Given the description of an element on the screen output the (x, y) to click on. 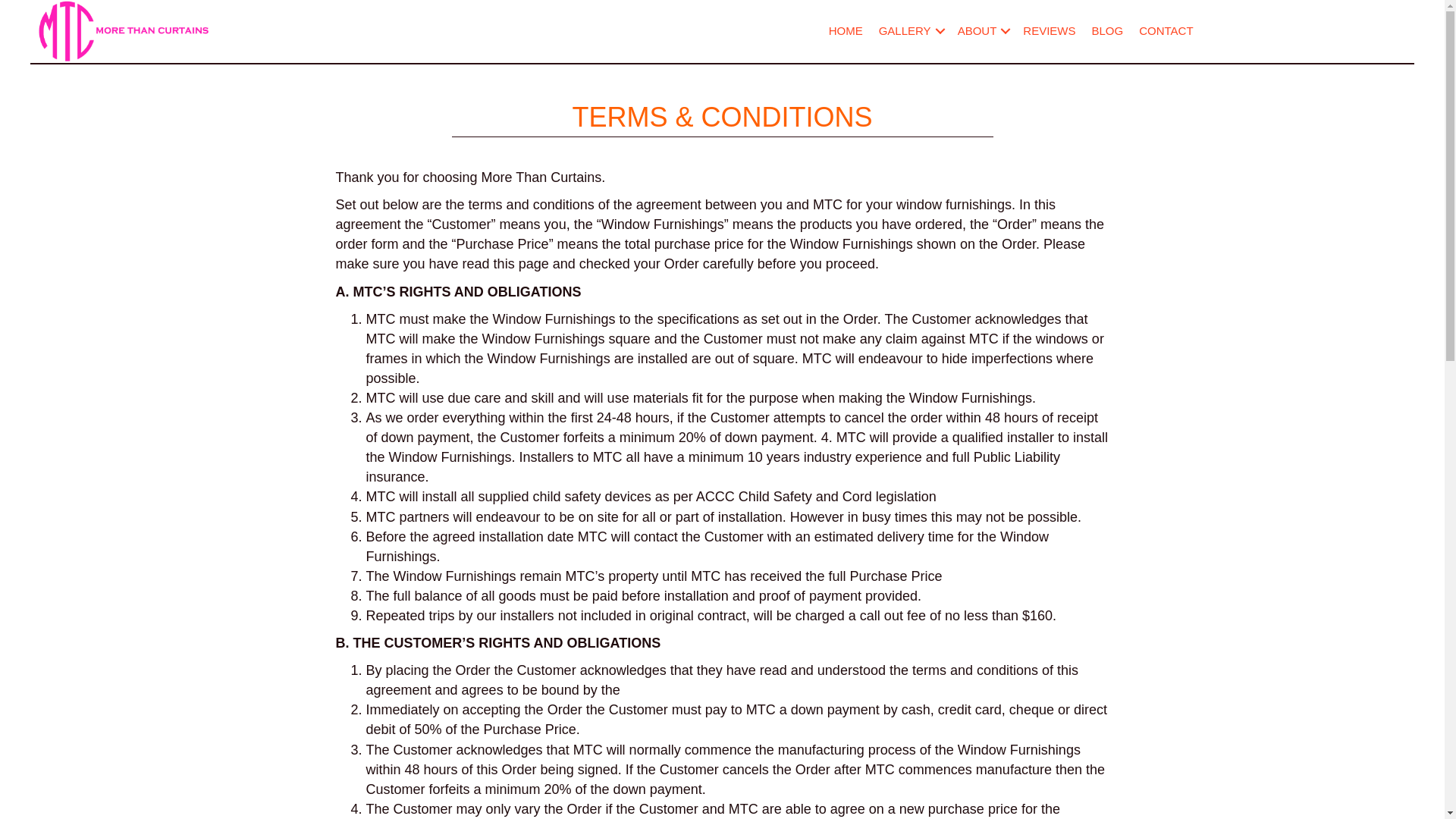
BLOG Element type: text (1107, 30)
More Than Curtains Watermark pink Element type: hover (124, 31)
HOME Element type: text (845, 30)
CONTACT Element type: text (1165, 30)
REVIEWS Element type: text (1048, 30)
GALLERY Element type: text (910, 30)
ABOUT Element type: text (982, 30)
